Given the description of an element on the screen output the (x, y) to click on. 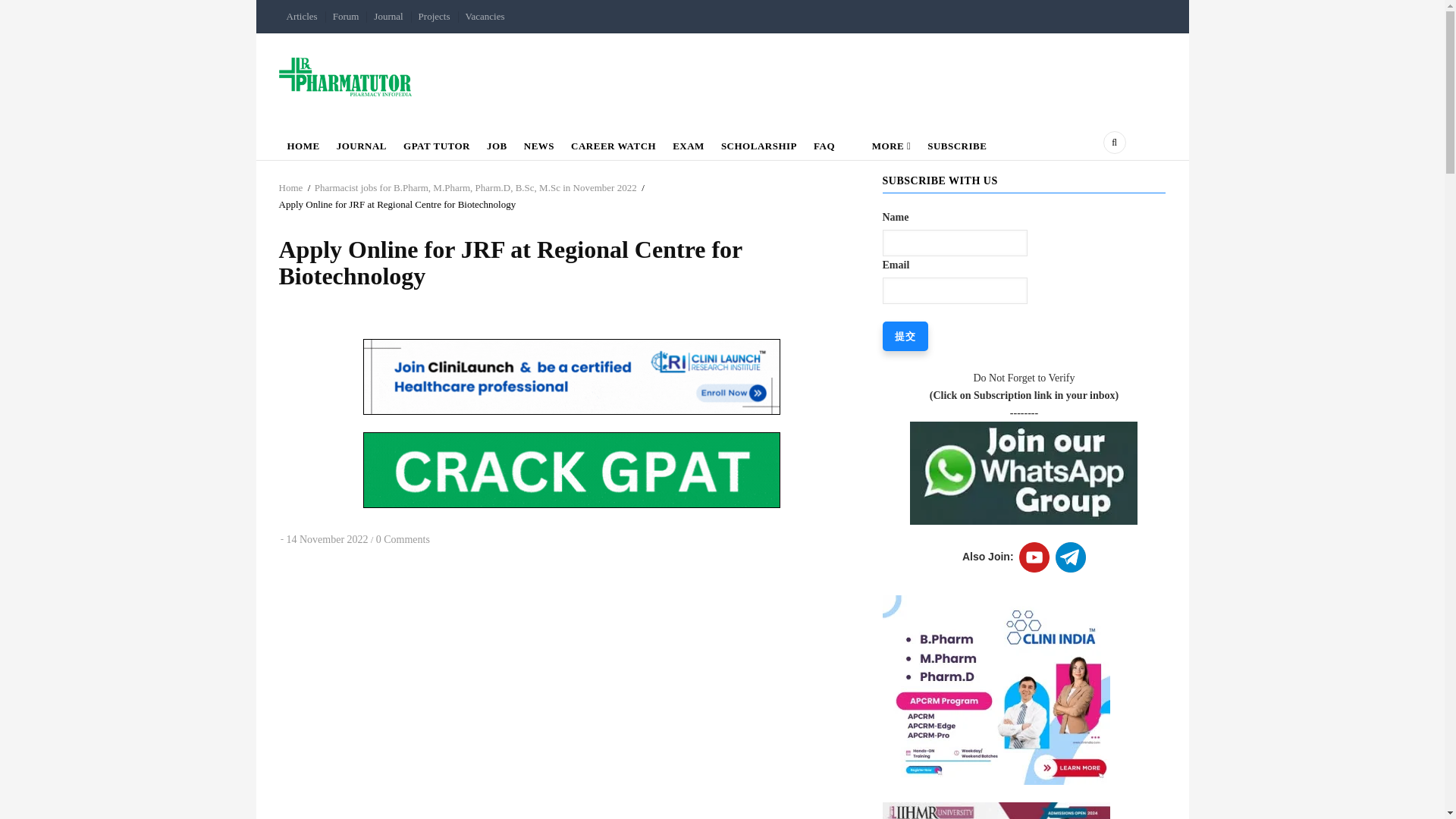
HOME (304, 142)
CAREER WATCH (612, 142)
Projects (434, 16)
Home (290, 187)
Articles (301, 16)
Journal (388, 16)
MORE (880, 142)
GPAT TUTOR (436, 142)
Advertisement (571, 794)
Home (345, 75)
EXAM (688, 142)
SCHOLARSHIP (759, 142)
NEWS (538, 142)
Vacancies (485, 16)
